Given the description of an element on the screen output the (x, y) to click on. 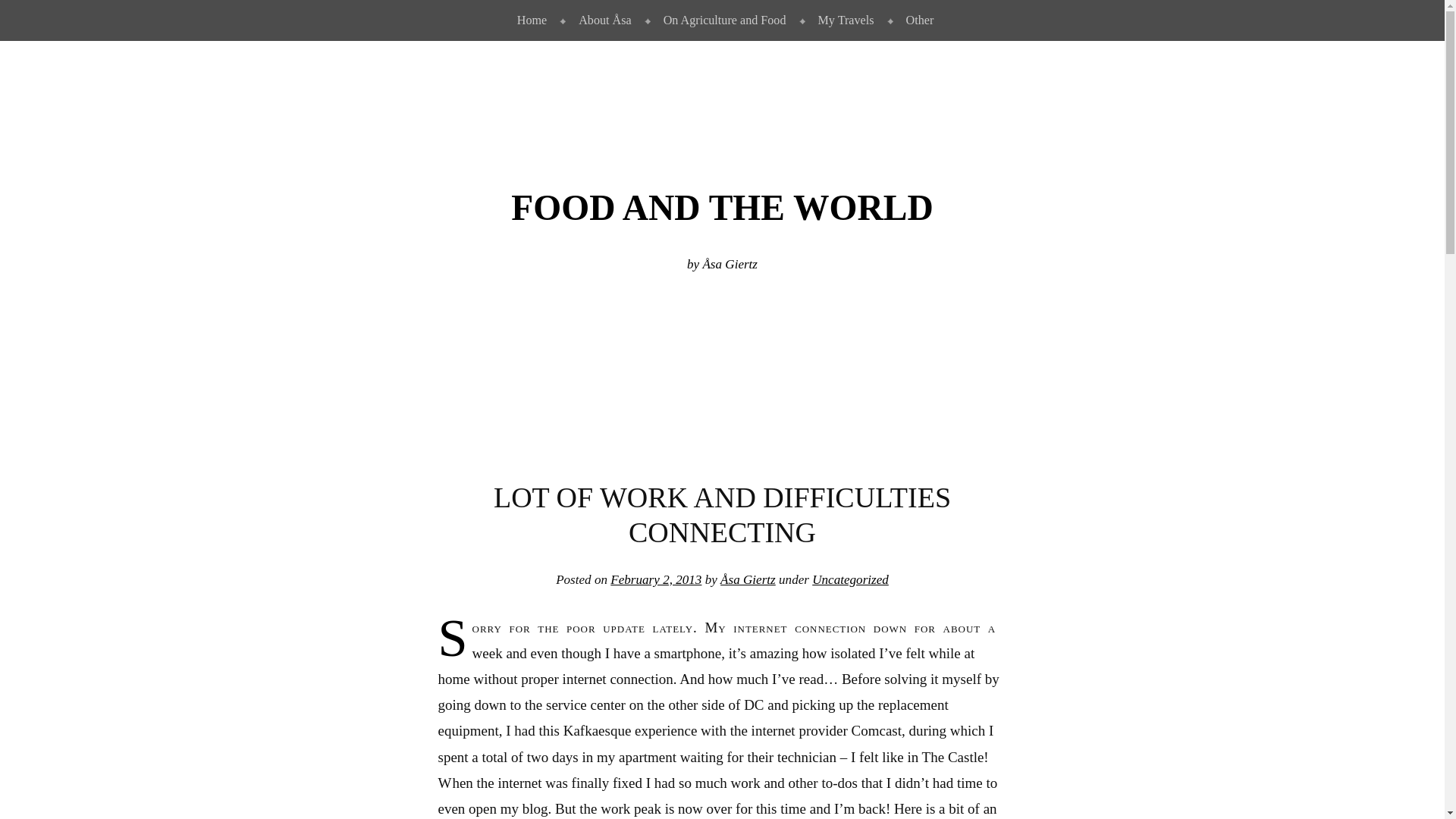
Food and the World (722, 207)
9:07 pm (655, 579)
On Agriculture and Food (722, 20)
Home (528, 20)
Skip to content (37, 11)
February 2, 2013 (655, 579)
My Travels (842, 20)
Skip to content (37, 11)
Other (916, 20)
FOOD AND THE WORLD (722, 207)
